Given the description of an element on the screen output the (x, y) to click on. 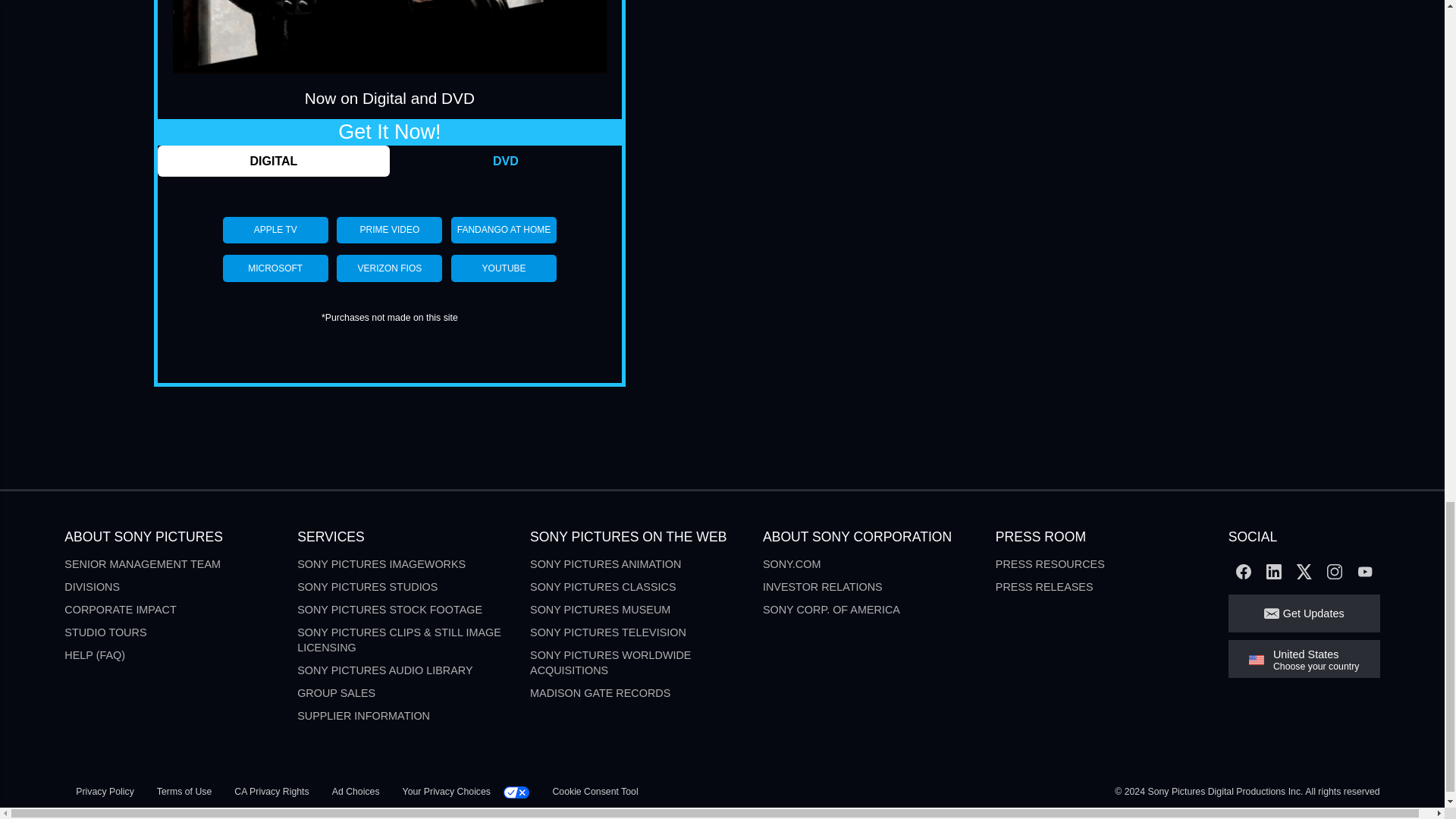
YOUTUBE (503, 267)
APPLE TV (275, 230)
MICROSOFT (275, 267)
DVD (505, 160)
PRIME VIDEO (389, 230)
DIGITAL (273, 160)
ASSASSINATION GAMES (390, 36)
Madison Gate Records (599, 693)
VERIZON FIOS (389, 267)
FANDANGO AT HOME (503, 230)
